Given the description of an element on the screen output the (x, y) to click on. 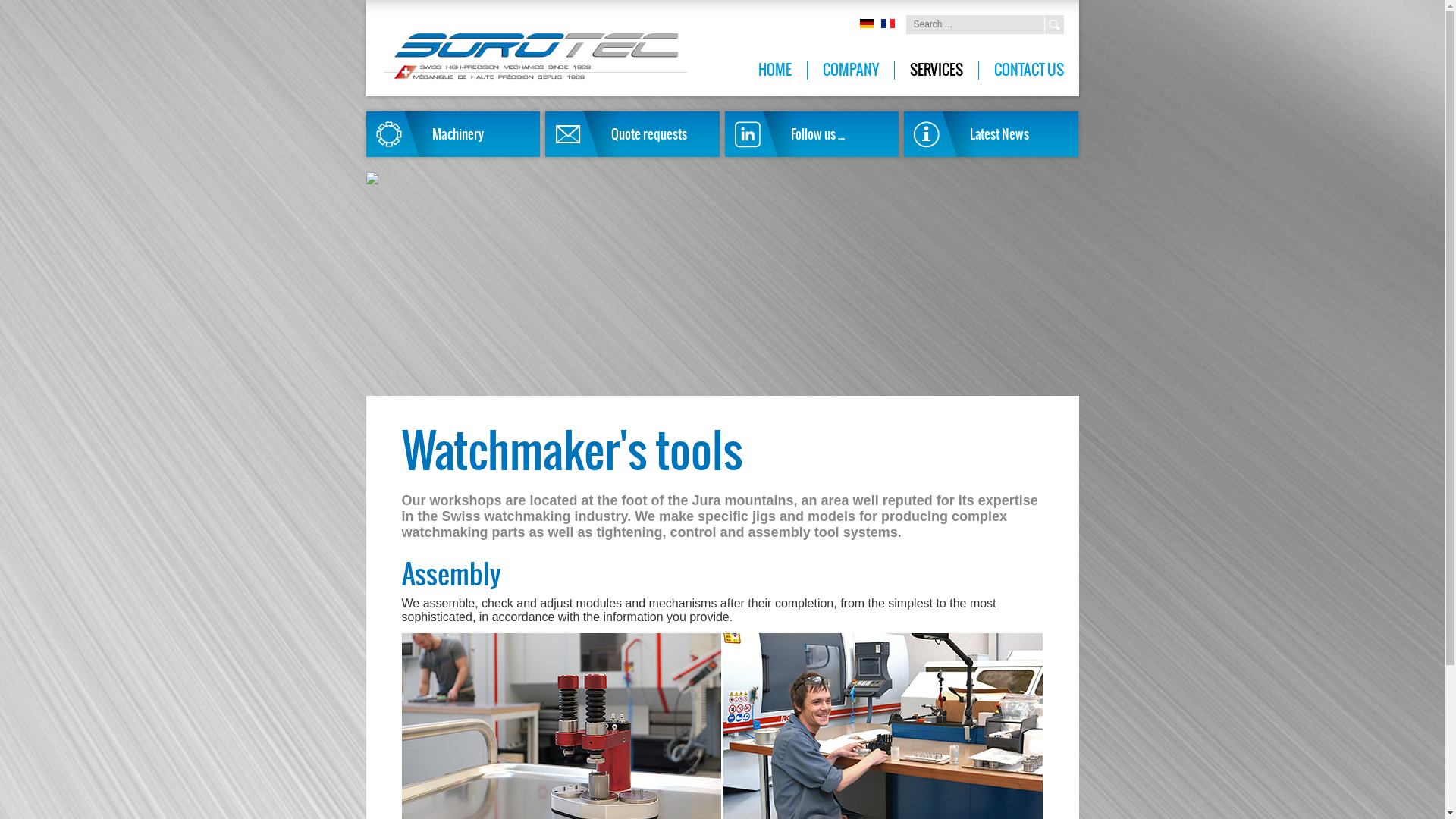
COMPANY Element type: text (850, 69)
Search Element type: text (1053, 24)
deutsch Element type: hover (866, 23)
Quote requests Element type: text (632, 133)
CONTACT US Element type: text (1028, 69)
Follow us ... Element type: text (811, 133)
Machinery Element type: text (452, 133)
Latest News Element type: text (990, 133)
HOME Element type: text (782, 69)
SERVICES Element type: text (935, 69)
